Given the description of an element on the screen output the (x, y) to click on. 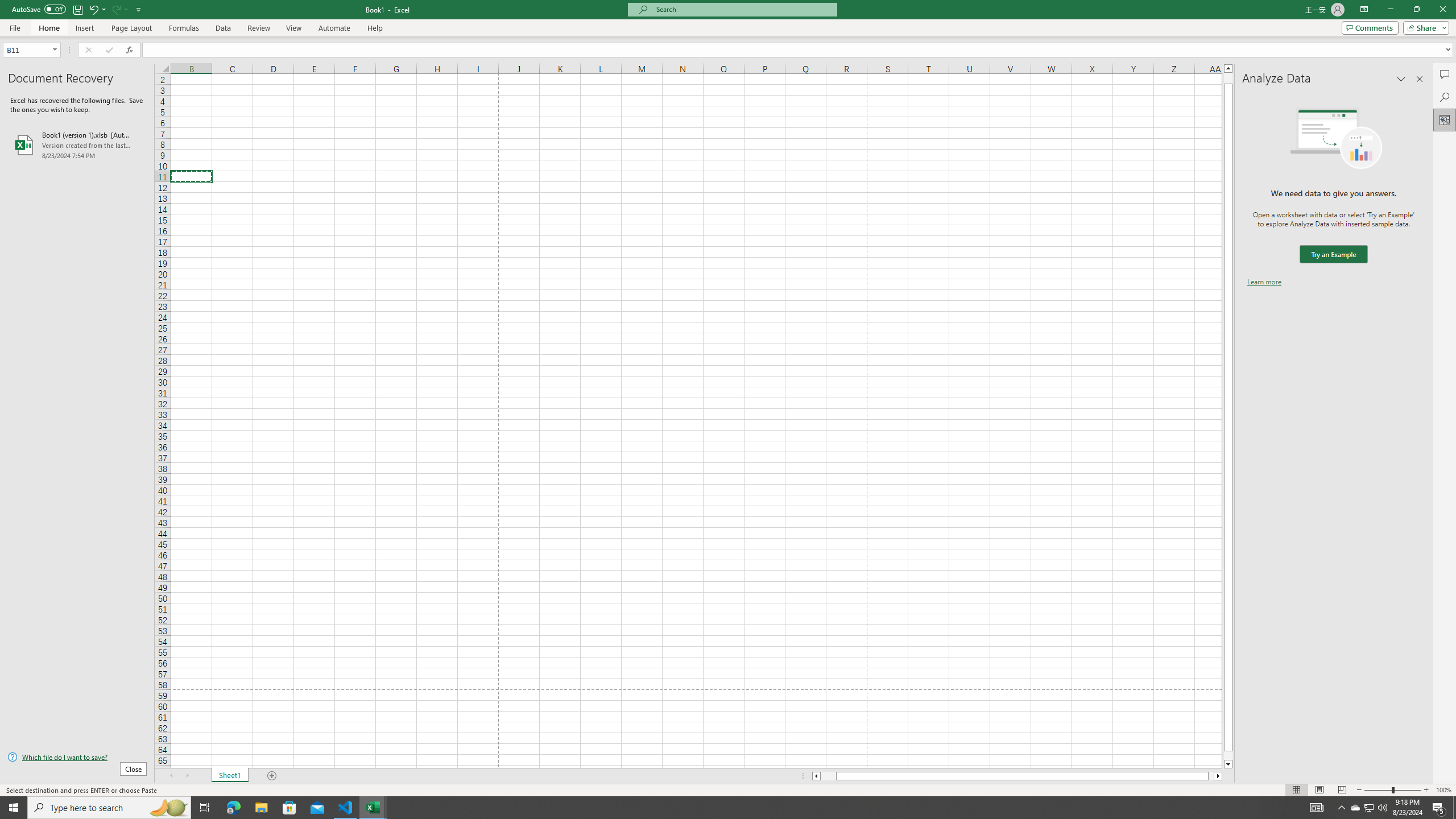
Page left (828, 775)
